Given the description of an element on the screen output the (x, y) to click on. 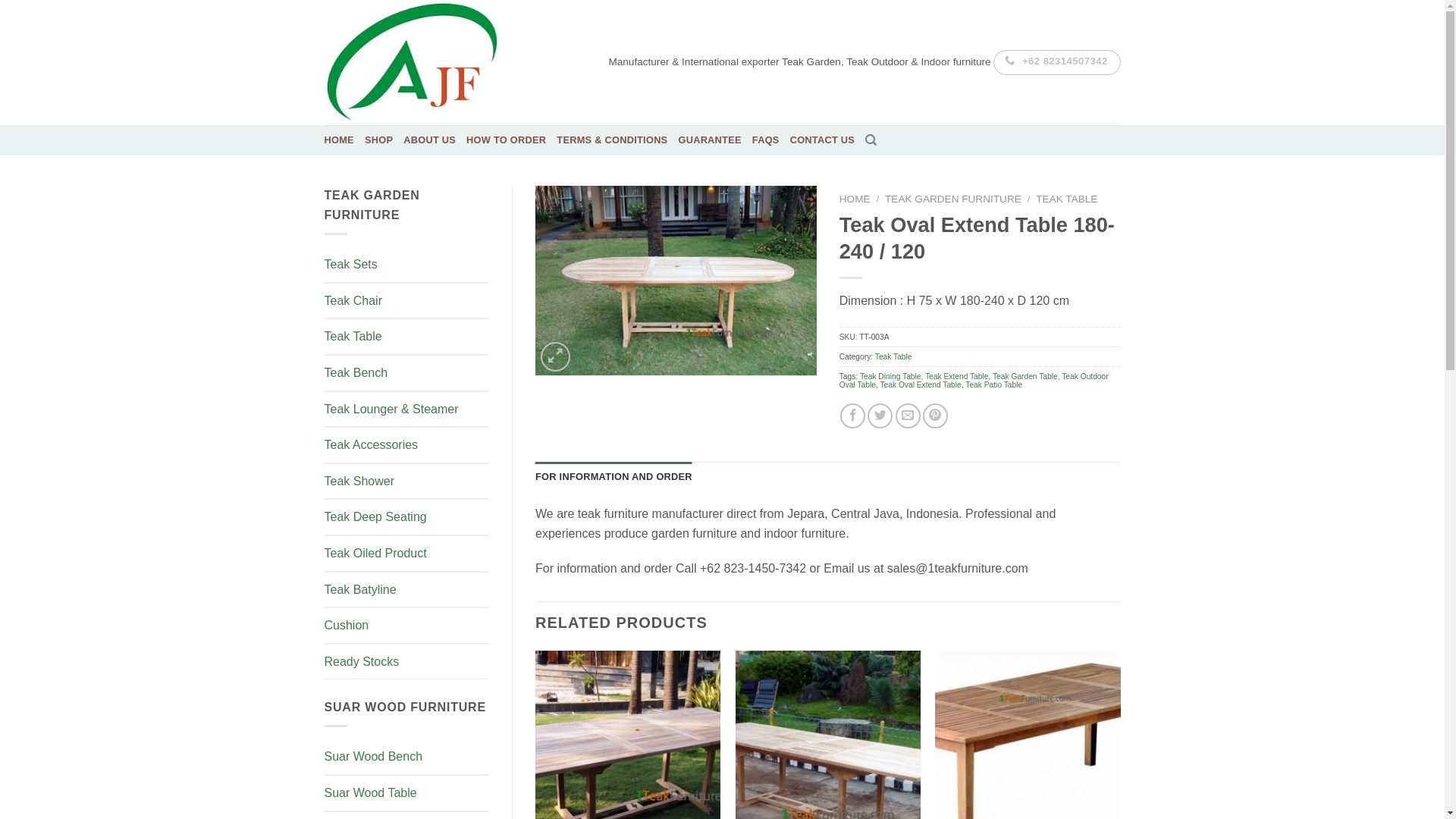
Teak Patio Table Element type: text (993, 384)
Teak Outdoor Oval Table Element type: text (973, 380)
HOME Element type: text (854, 198)
FOR INFORMATION AND ORDER Element type: text (613, 476)
Teak Shower Element type: text (406, 481)
Pin on Pinterest Element type: hover (934, 415)
Teak Batyline Element type: text (406, 590)
Teak Lounger & Steamer Element type: text (406, 409)
Teak Oval Extend Table 180-240 / 120   TT-003A Element type: hover (675, 279)
Suar Wood Table Element type: text (406, 793)
HOME Element type: text (339, 140)
Teak Accessories Element type: text (406, 445)
Teak Garden Table Element type: text (1024, 376)
Share on Facebook Element type: hover (852, 415)
TEAK GARDEN FURNITURE Element type: text (952, 198)
Teak Bench Element type: text (406, 373)
Email to a Friend Element type: hover (907, 415)
HOW TO ORDER Element type: text (506, 140)
CONTACT US Element type: text (822, 140)
FAQS Element type: text (765, 140)
Cushion Element type: text (406, 625)
Ready Stocks Element type: text (406, 662)
Suar Wood Bench Element type: text (406, 757)
ABOUT US Element type: text (429, 140)
Share on Twitter Element type: hover (879, 415)
Teak Chair Element type: text (406, 301)
Teak Deep Seating Element type: text (406, 517)
GUARANTEE Element type: text (708, 140)
Teak Sets Element type: text (406, 264)
+62 82314507342 Element type: text (1056, 62)
Teak Oiled Product Element type: text (406, 553)
Teak Dining Table Element type: text (890, 376)
Teak Table Element type: text (893, 356)
SHOP Element type: text (378, 140)
Zoom Element type: hover (555, 356)
TERMS & CONDITIONS Element type: text (611, 140)
TEAK TABLE Element type: text (1066, 198)
Teak Oval Extend Table Element type: text (919, 384)
Teak Extend Table Element type: text (956, 376)
Teak Table Element type: text (406, 336)
